Given the description of an element on the screen output the (x, y) to click on. 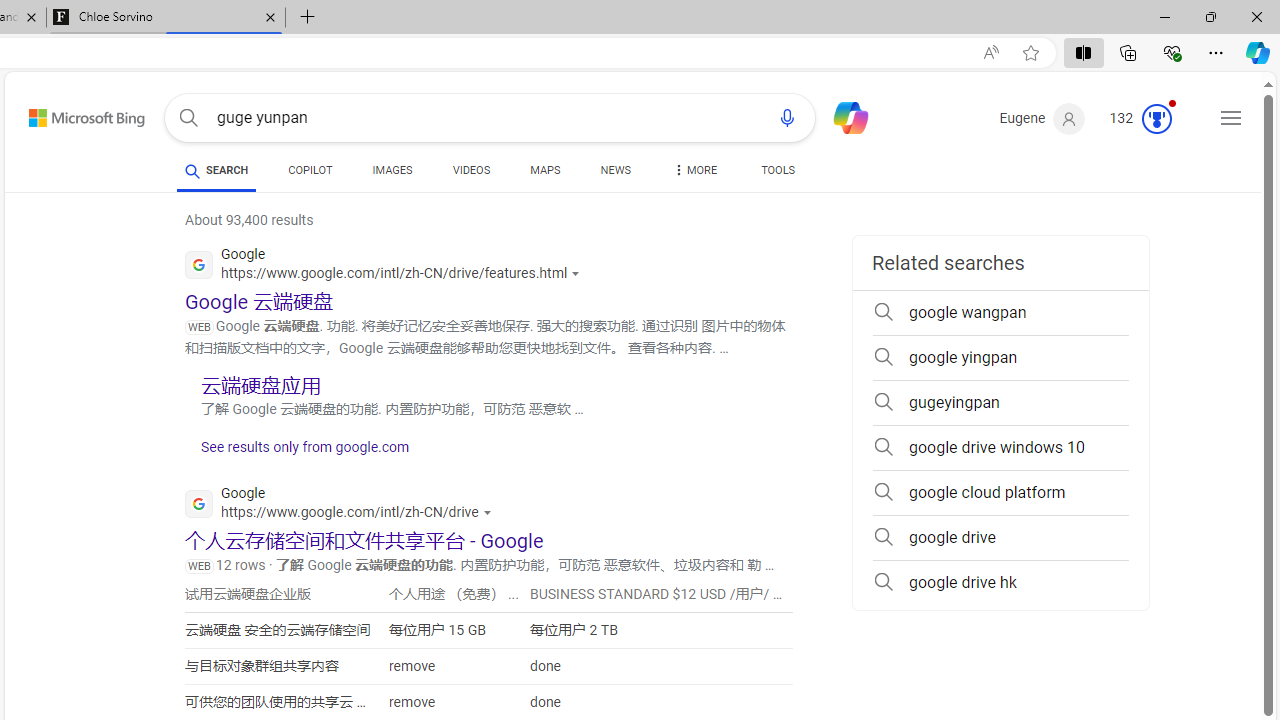
IMAGES (392, 170)
Class: medal-svg-animation (1156, 118)
Add this page to favorites (Ctrl+D) (1030, 53)
Dropdown Menu (693, 170)
VIDEOS (471, 170)
Search button (188, 117)
Minimize (1164, 16)
Actions for this site (489, 512)
New Tab (308, 17)
google yingpan (1000, 358)
Eugene (1041, 119)
NEWS (614, 173)
Chat (842, 116)
